Given the description of an element on the screen output the (x, y) to click on. 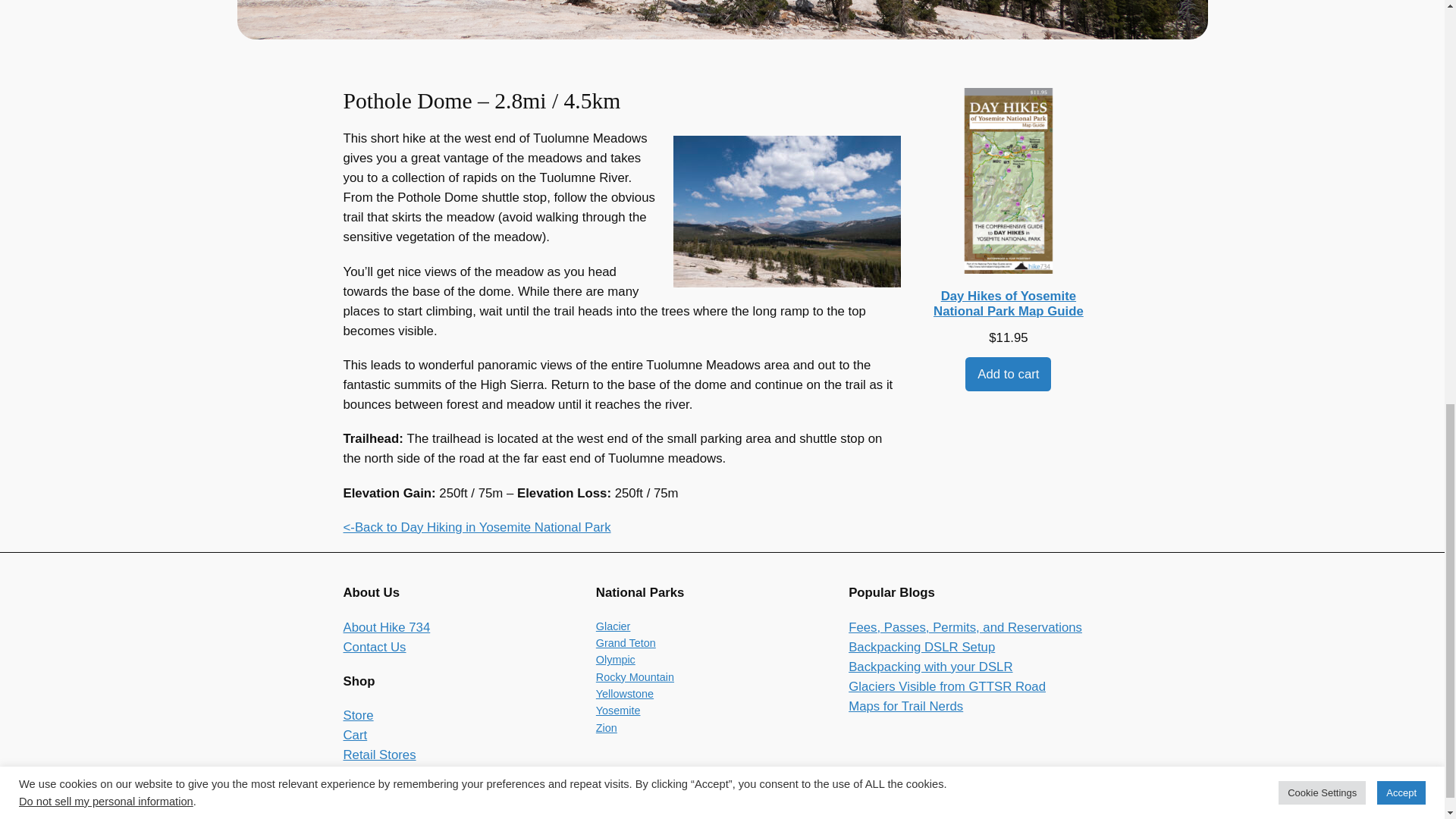
Day Hiking Yosemite National Park (476, 527)
Olympic (614, 659)
Glacier (612, 625)
Retail Stores (378, 754)
Backpacking DSLR Setup (921, 646)
Yosemite (617, 710)
Contact Us (374, 646)
Zion (606, 727)
Rocky Mountain (634, 676)
Cart (354, 735)
